Given the description of an element on the screen output the (x, y) to click on. 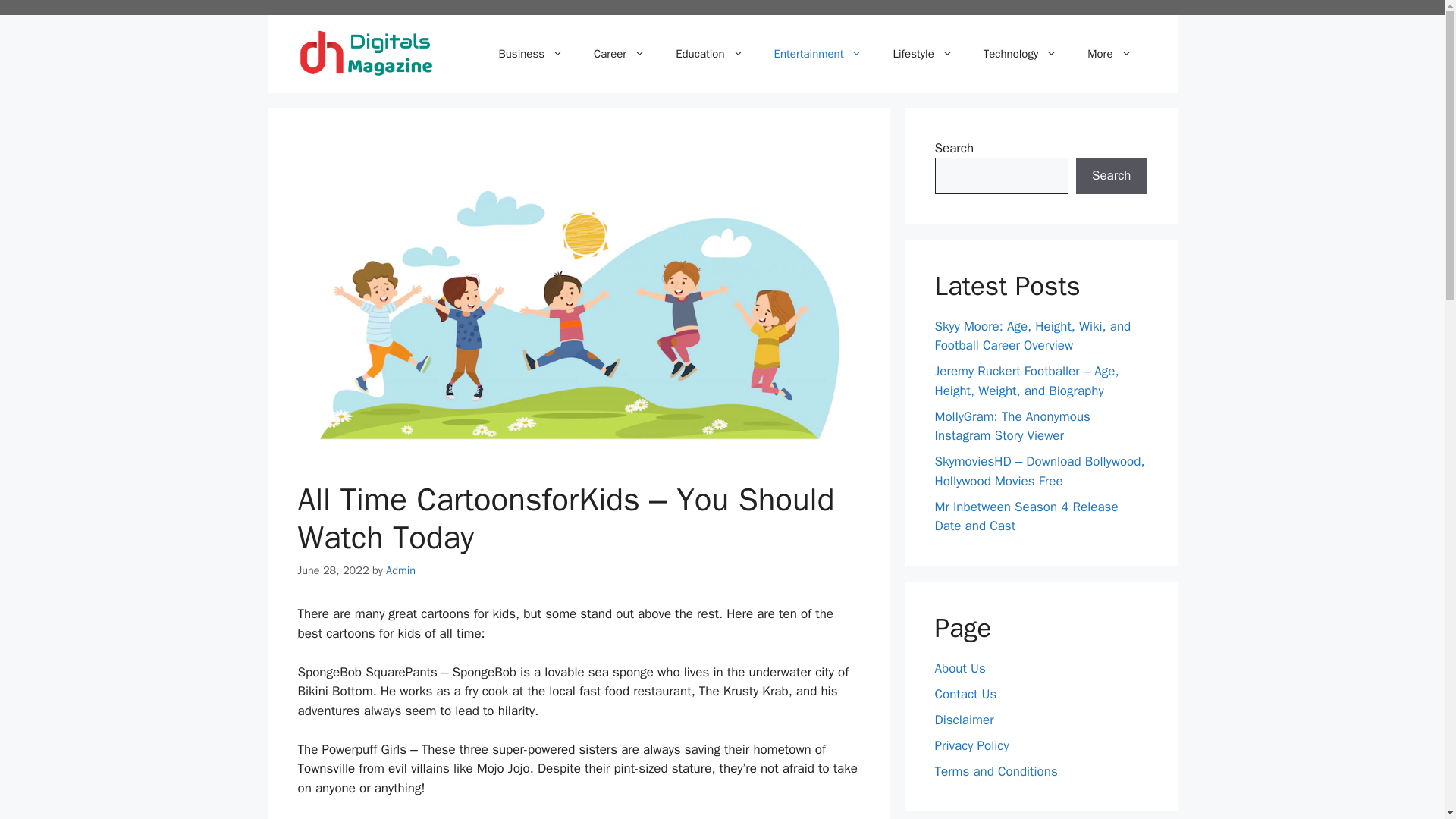
Technology (1020, 53)
Education (709, 53)
Career (619, 53)
View all posts by Admin (399, 570)
Entertainment (817, 53)
Lifestyle (922, 53)
Business (530, 53)
More (1109, 53)
Admin (399, 570)
